Given the description of an element on the screen output the (x, y) to click on. 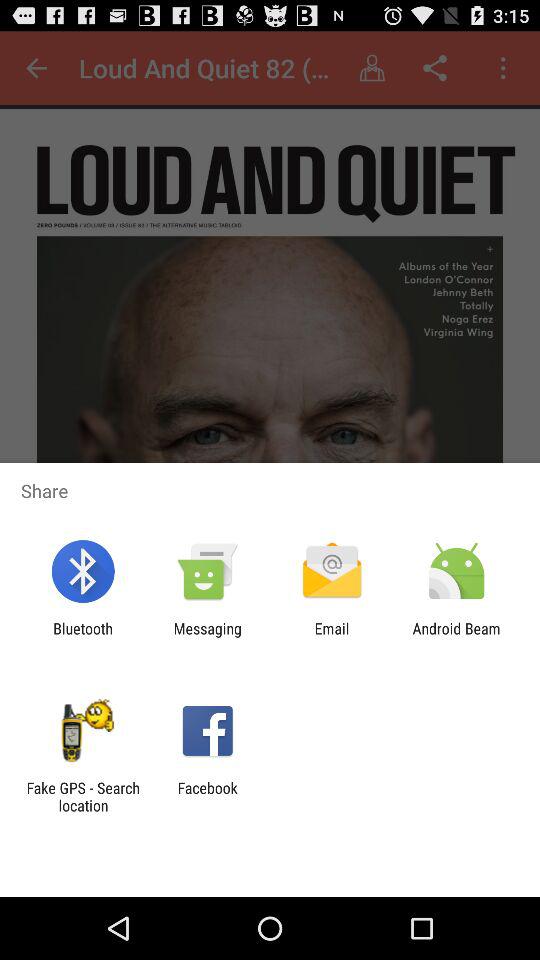
tap facebook icon (207, 796)
